Given the description of an element on the screen output the (x, y) to click on. 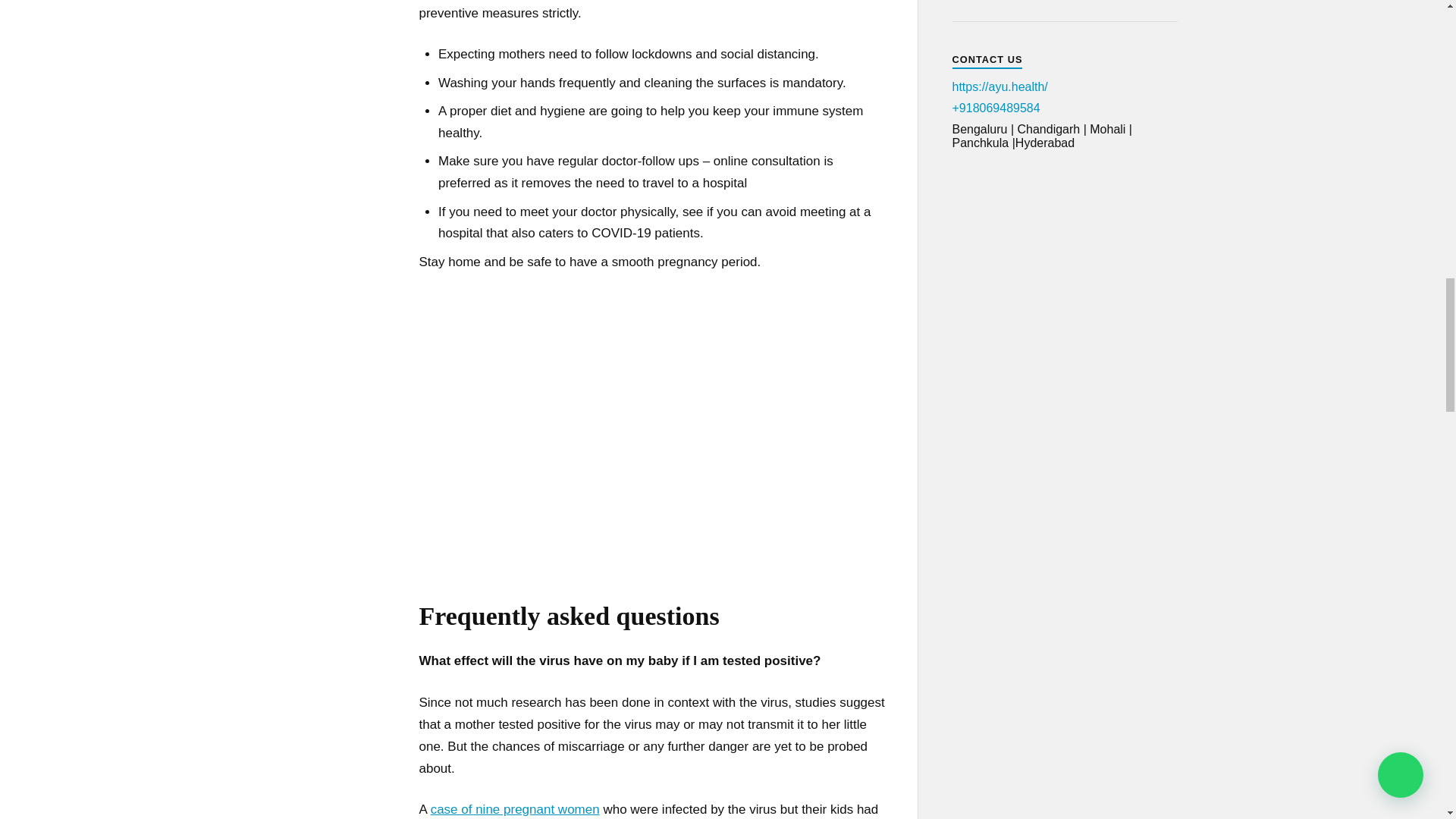
case of nine pregnant women (514, 809)
